Given the description of an element on the screen output the (x, y) to click on. 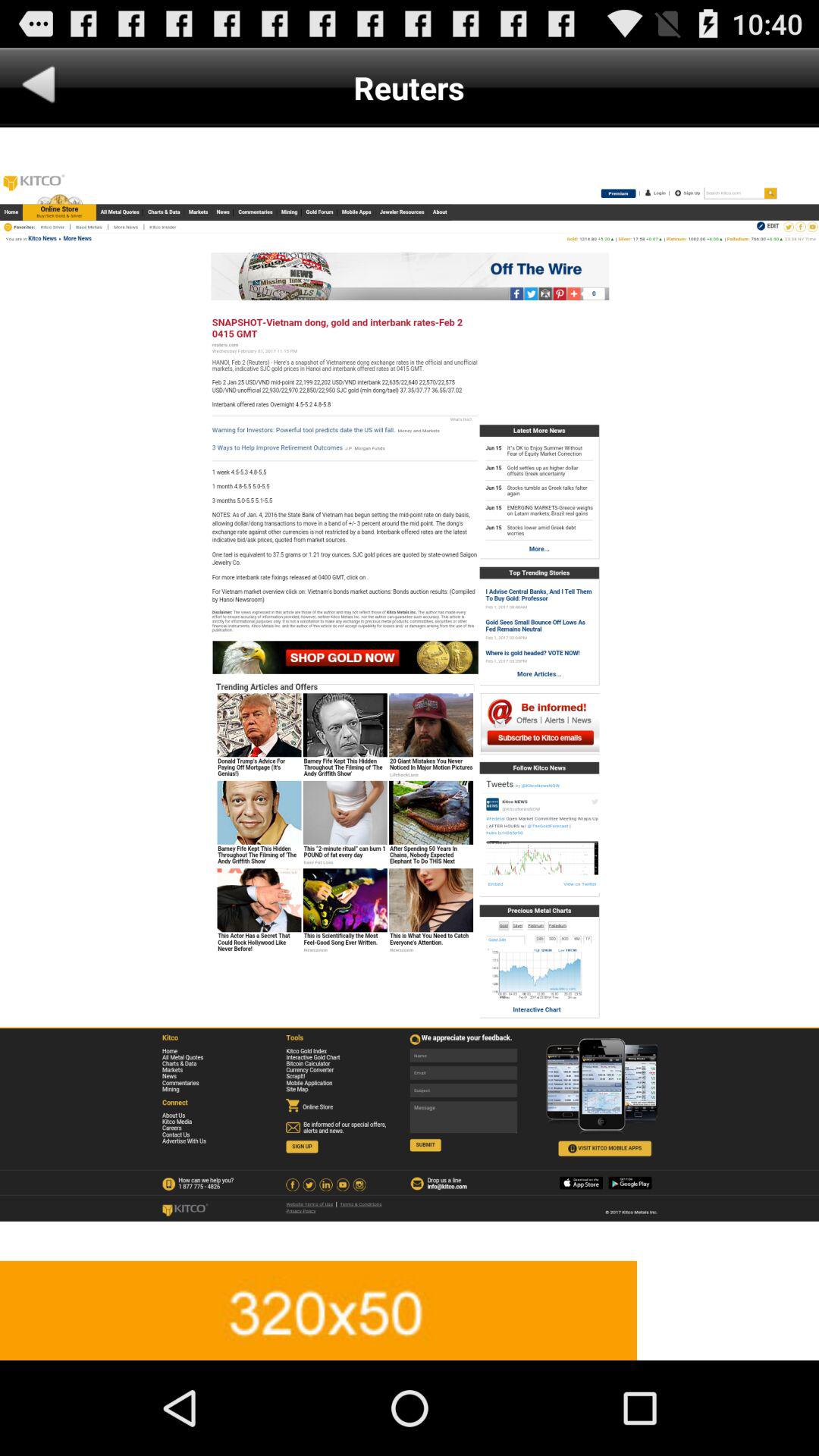
advatisment (409, 693)
